Given the description of an element on the screen output the (x, y) to click on. 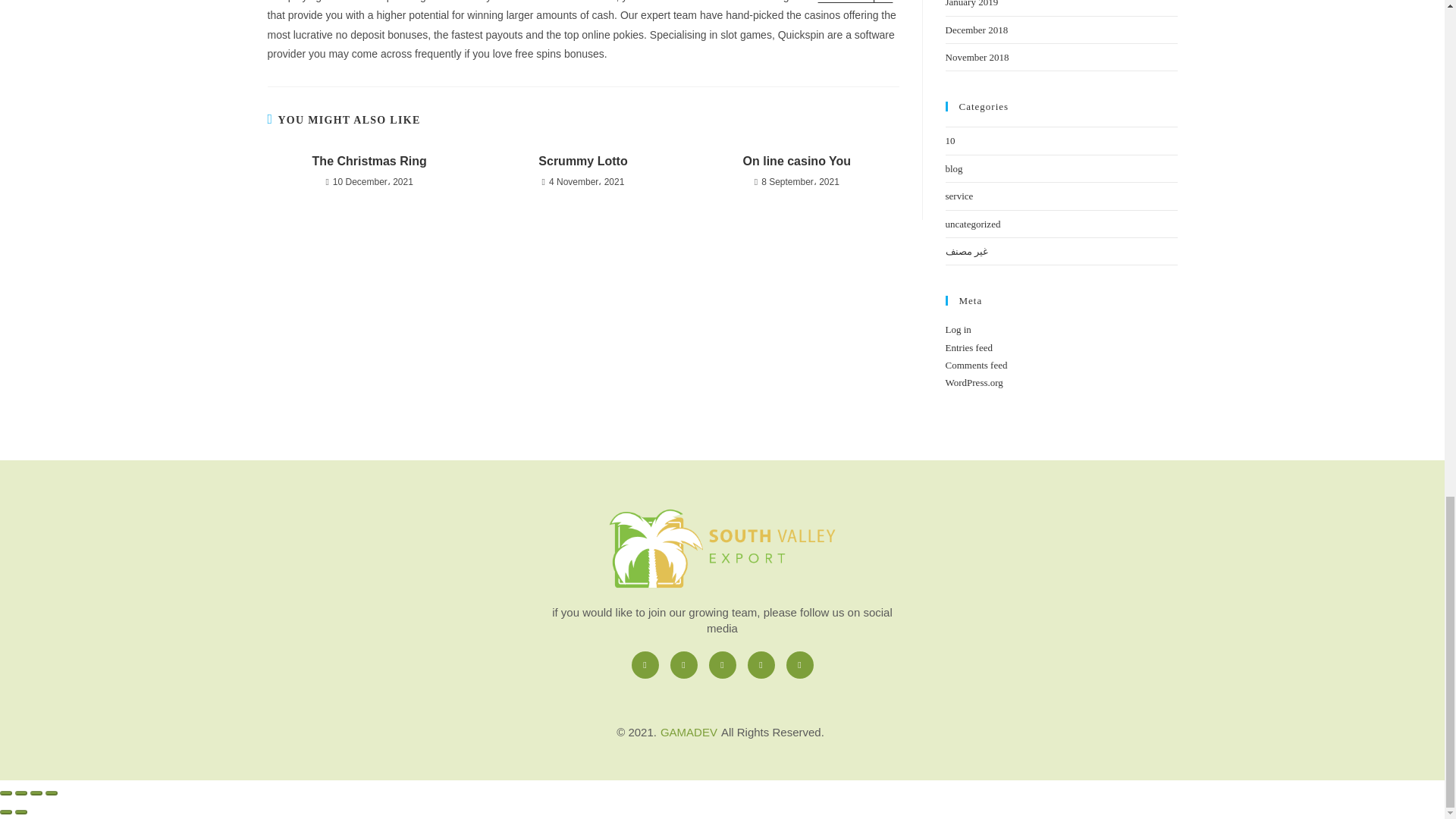
On line casino You (796, 161)
The Christmas Ring (368, 161)
informative post (855, 1)
Scrummy Lotto (582, 161)
